Given the description of an element on the screen output the (x, y) to click on. 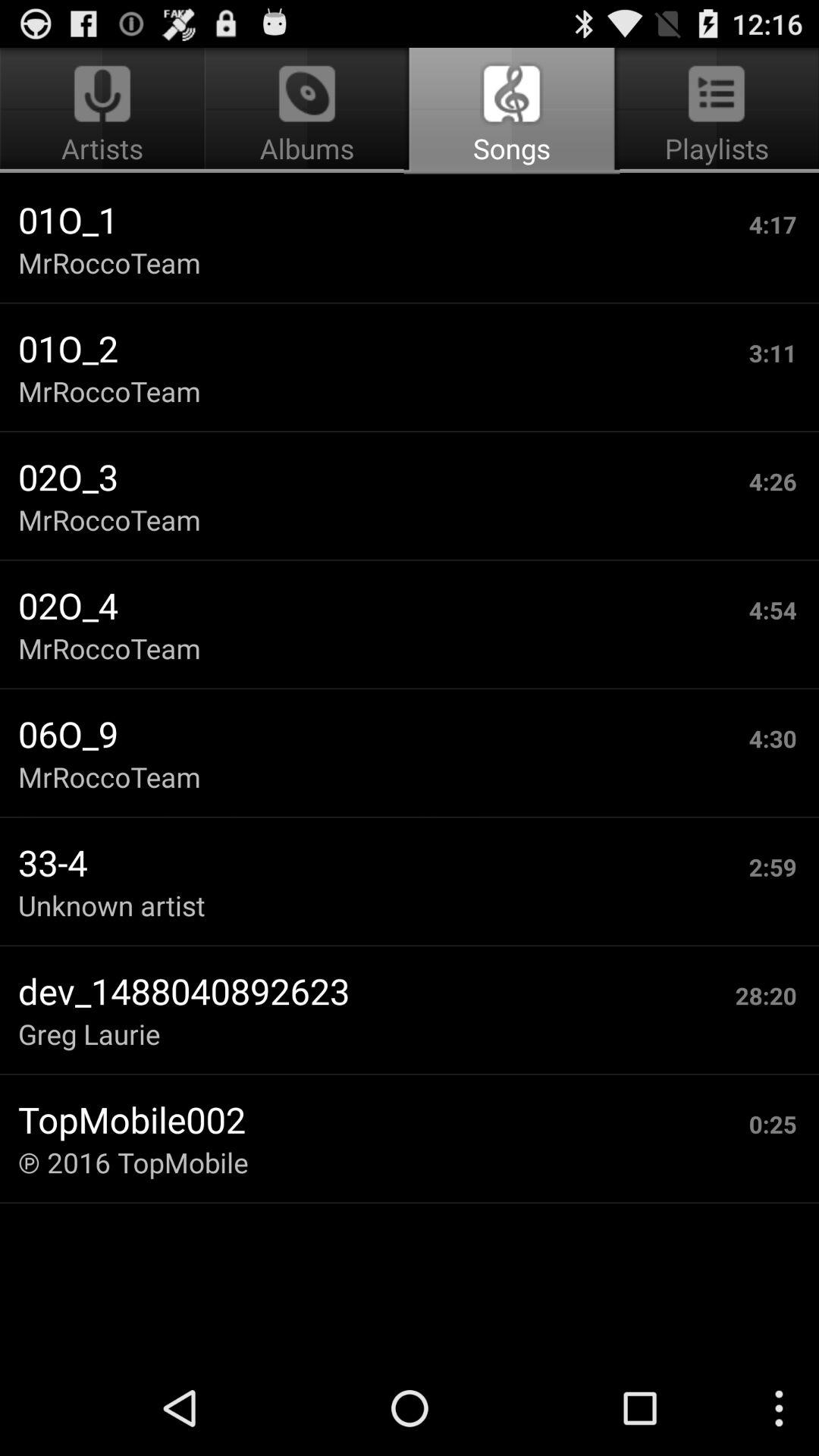
launch the item above the 01o_1 item (307, 111)
